Given the description of an element on the screen output the (x, y) to click on. 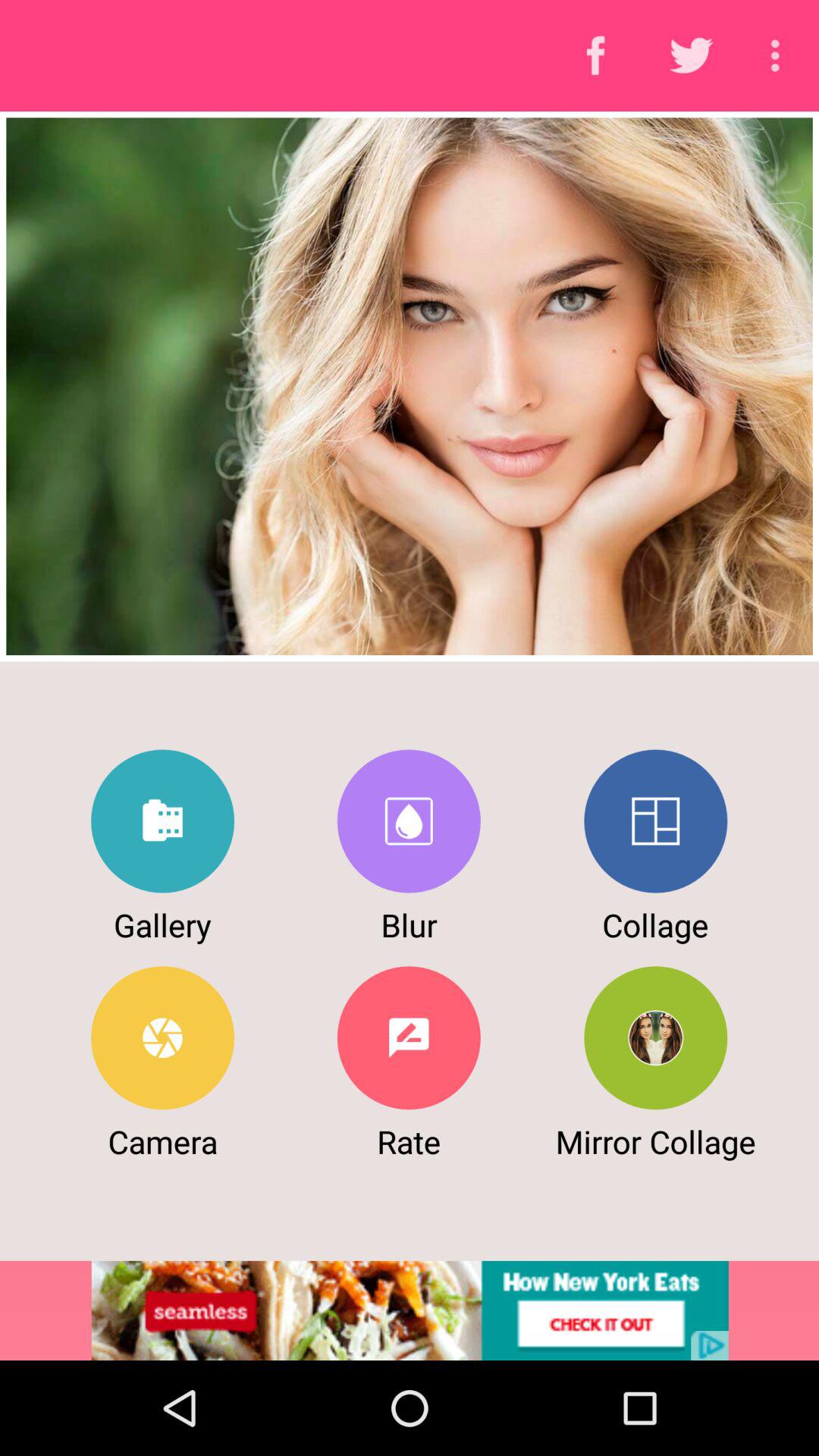
rate option (408, 1037)
